Given the description of an element on the screen output the (x, y) to click on. 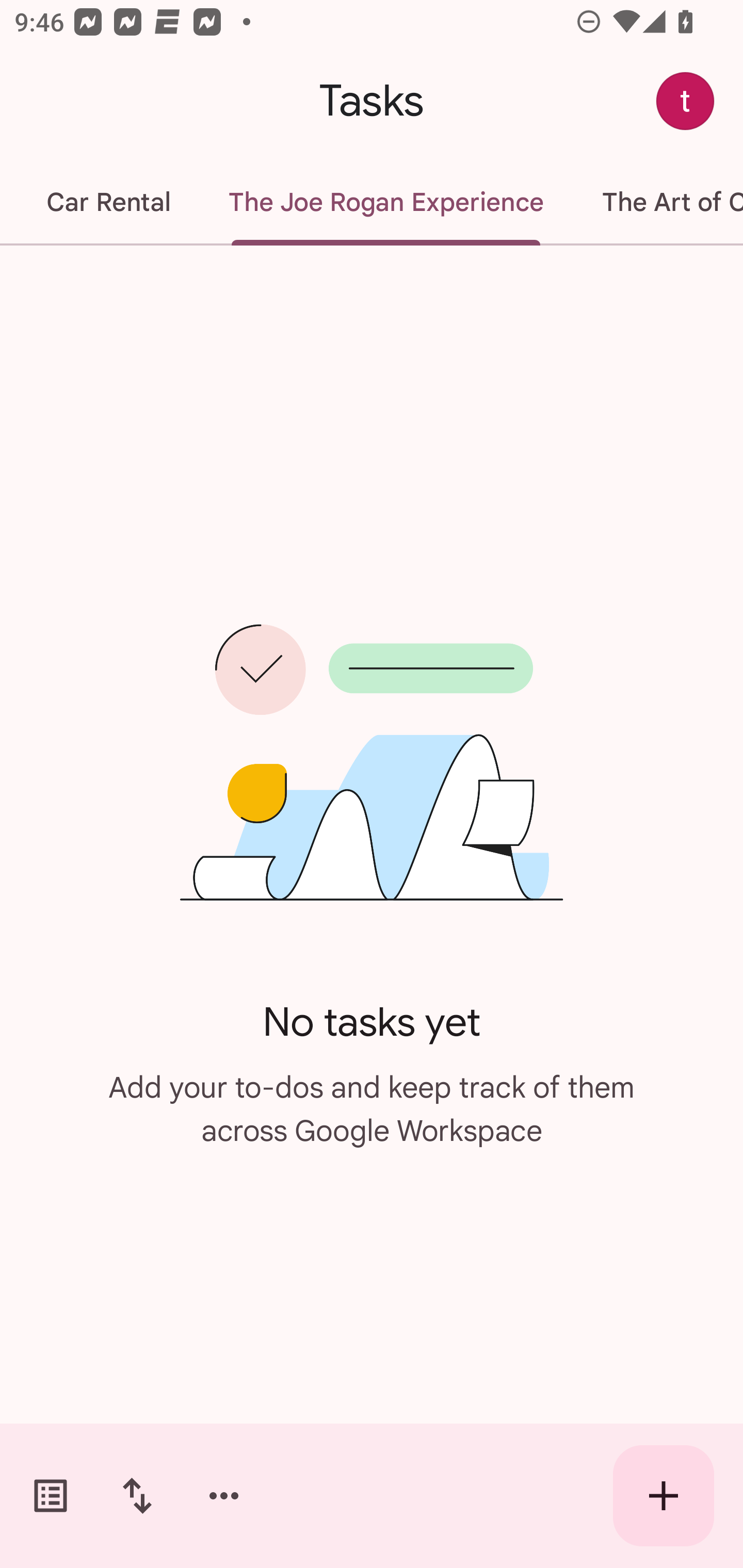
Car Rental (108, 202)
The Art of Charm (657, 202)
Switch task lists (50, 1495)
Create new task (663, 1495)
Change sort order (136, 1495)
More options (223, 1495)
